Given the description of an element on the screen output the (x, y) to click on. 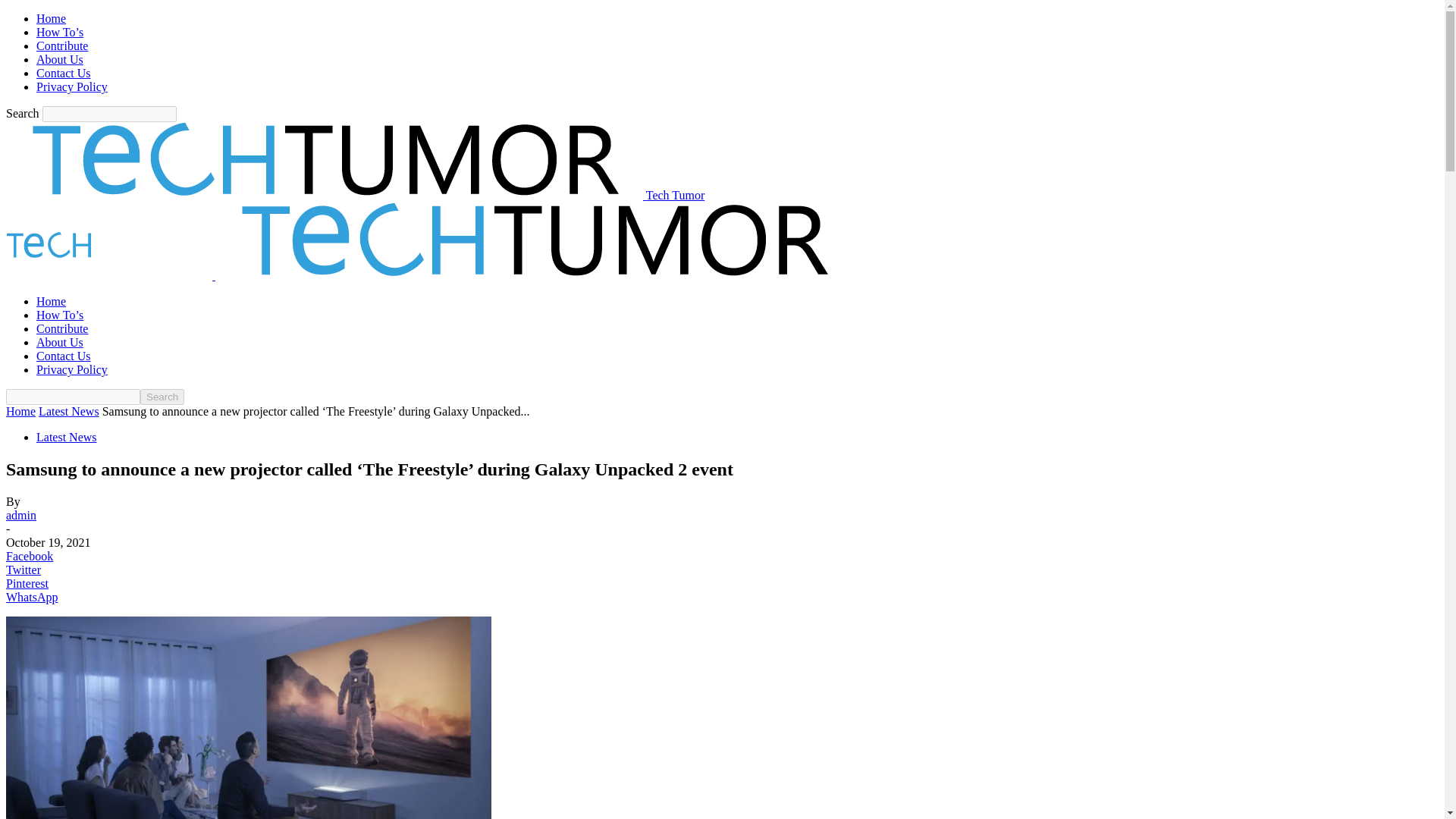
samsung premiere projector (248, 717)
Contact Us (63, 72)
Tech Tumor (354, 195)
Home (50, 300)
admin (20, 514)
Privacy Policy (71, 86)
View all posts in Latest News (69, 410)
About Us (59, 341)
Contribute (61, 45)
Search (161, 396)
About Us (59, 59)
Home (19, 410)
Search (161, 396)
Home (50, 18)
Privacy Policy (71, 369)
